Given the description of an element on the screen output the (x, y) to click on. 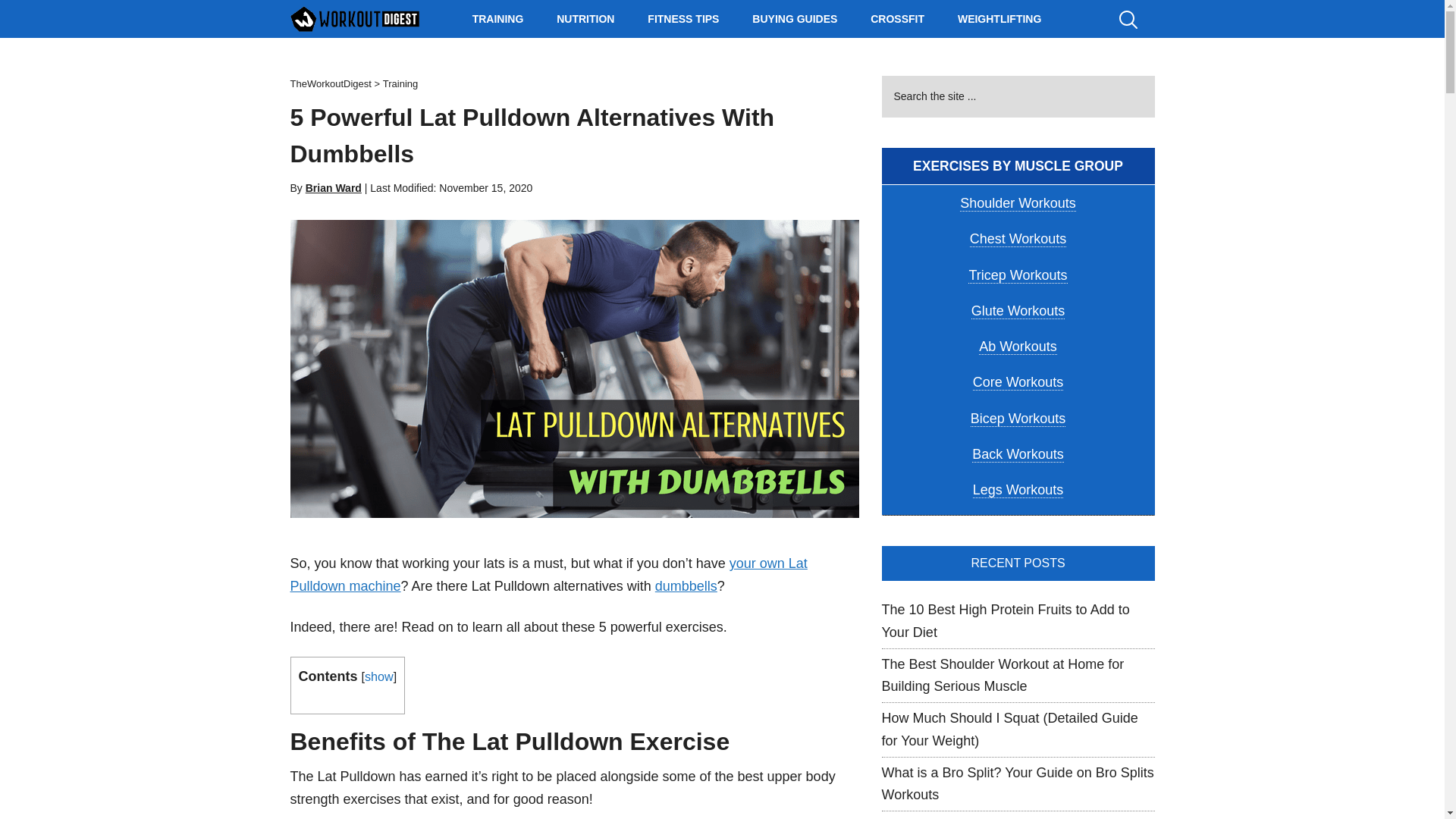
show (379, 676)
CROSSFIT (897, 18)
BUYING GUIDES (793, 18)
WEIGHTLIFTING (999, 18)
Training (399, 83)
TRAINING (497, 18)
The Workout Digest (354, 18)
NUTRITION (584, 18)
Show Search (1135, 18)
FITNESS TIPS (682, 18)
TheWorkoutDigest (331, 83)
Brian Ward (333, 187)
dumbbells (686, 585)
